Given the description of an element on the screen output the (x, y) to click on. 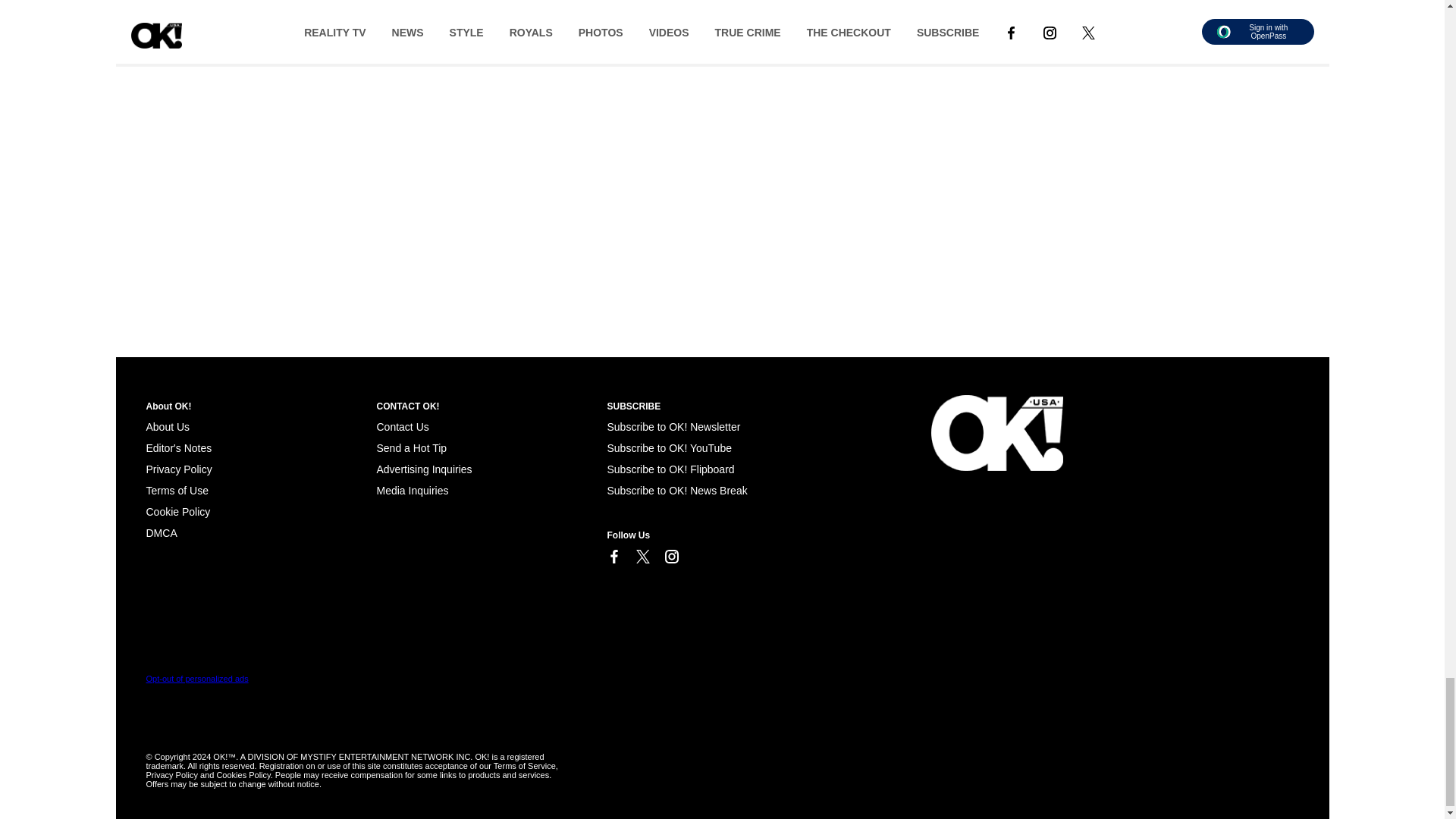
Terms of Use (176, 490)
Editor's Notes (178, 448)
Cookie Policy (160, 532)
Link to Facebook (613, 556)
Privacy Policy (178, 469)
About Us (167, 426)
Link to Instagram (670, 556)
Link to X (641, 556)
Cookie Policy (177, 511)
